Given the description of an element on the screen output the (x, y) to click on. 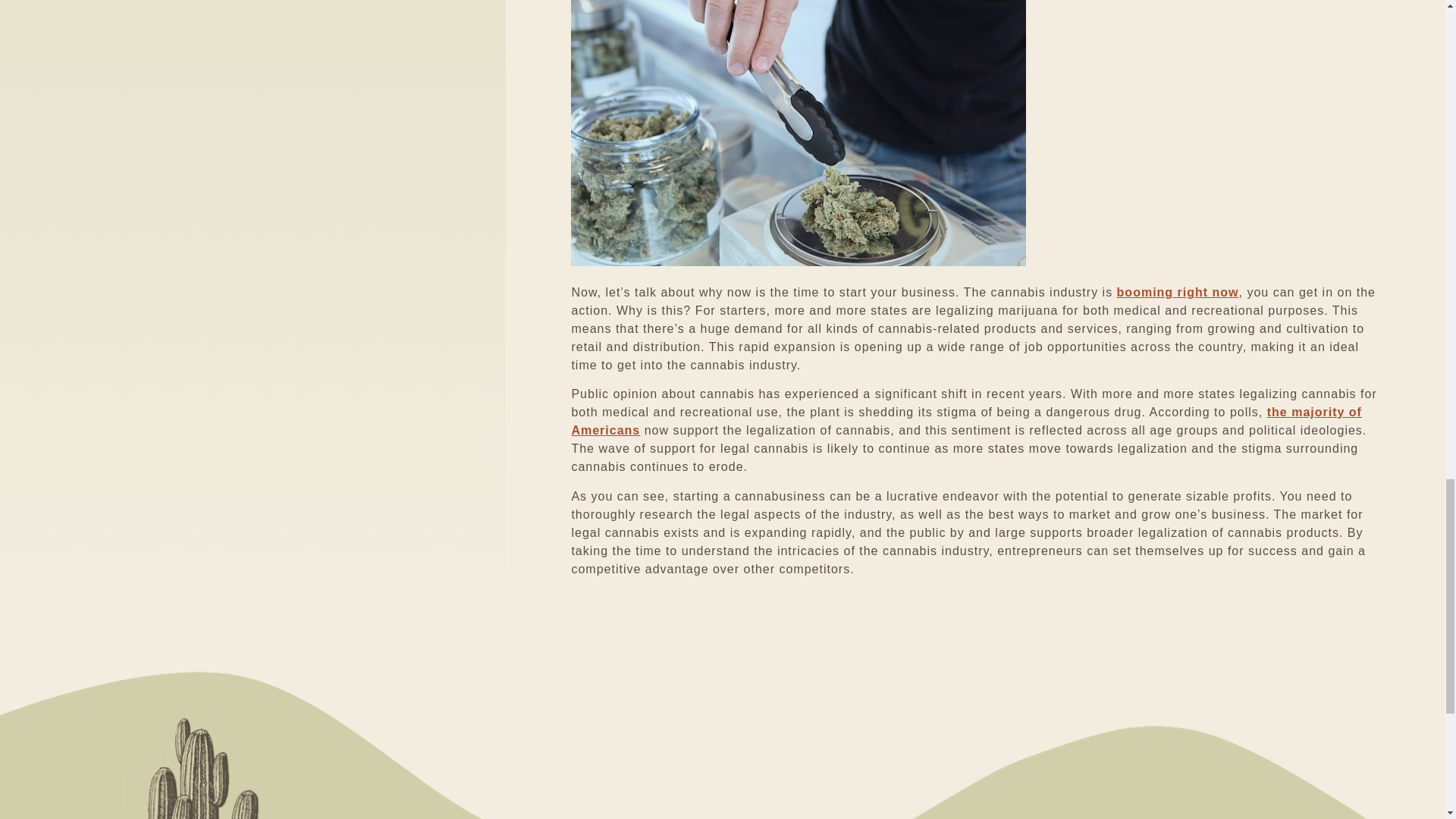
the majority of Americans (965, 420)
booming right now (1177, 291)
